Given the description of an element on the screen output the (x, y) to click on. 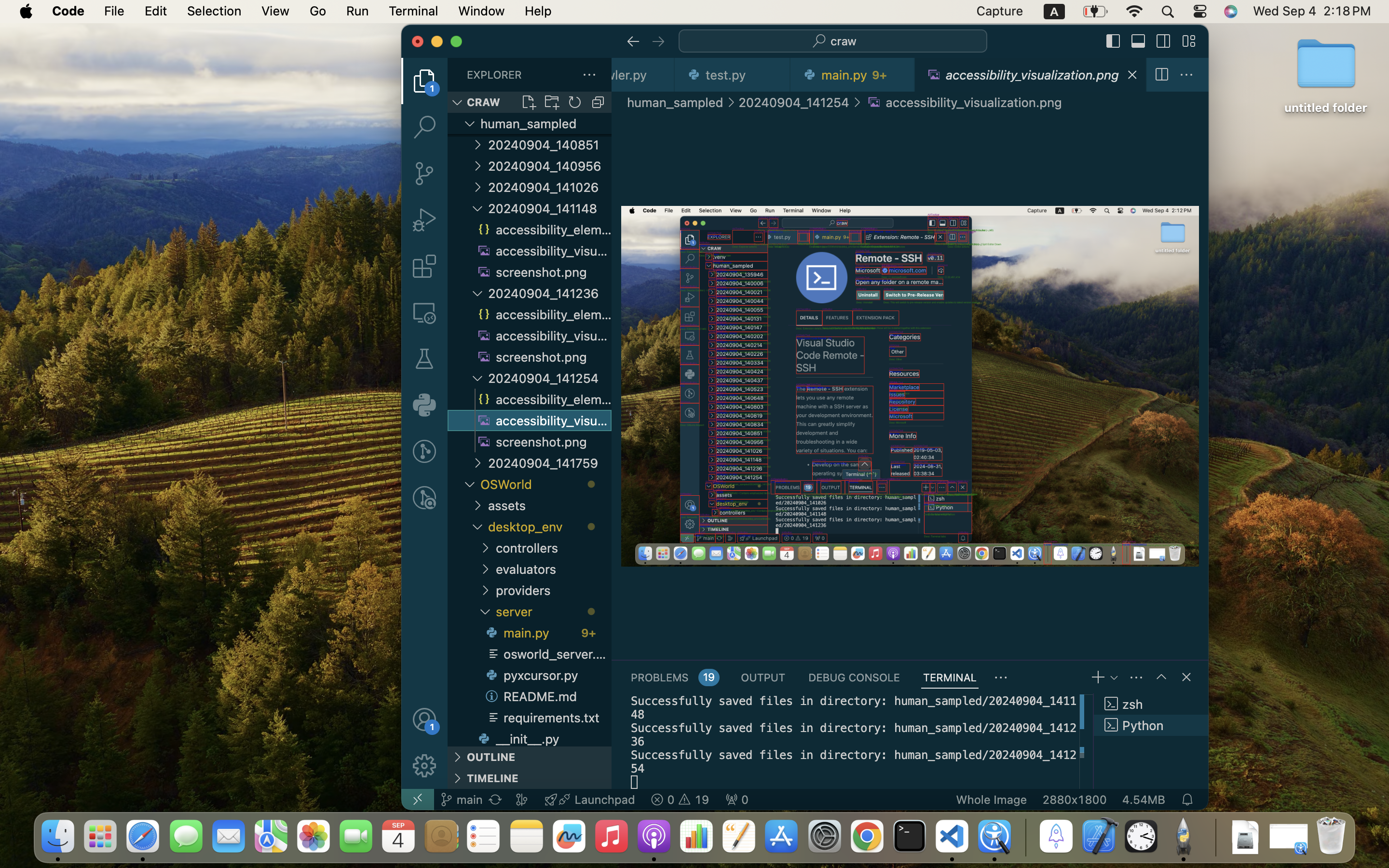
 Element type: AXButton (658, 41)
human_sampled Element type: AXGroup (674, 101)
0  Element type: AXRadioButton (424, 173)
 Element type: AXGroup (424, 719)
requirements.txt  Element type: AXGroup (546, 717)
